Given the description of an element on the screen output the (x, y) to click on. 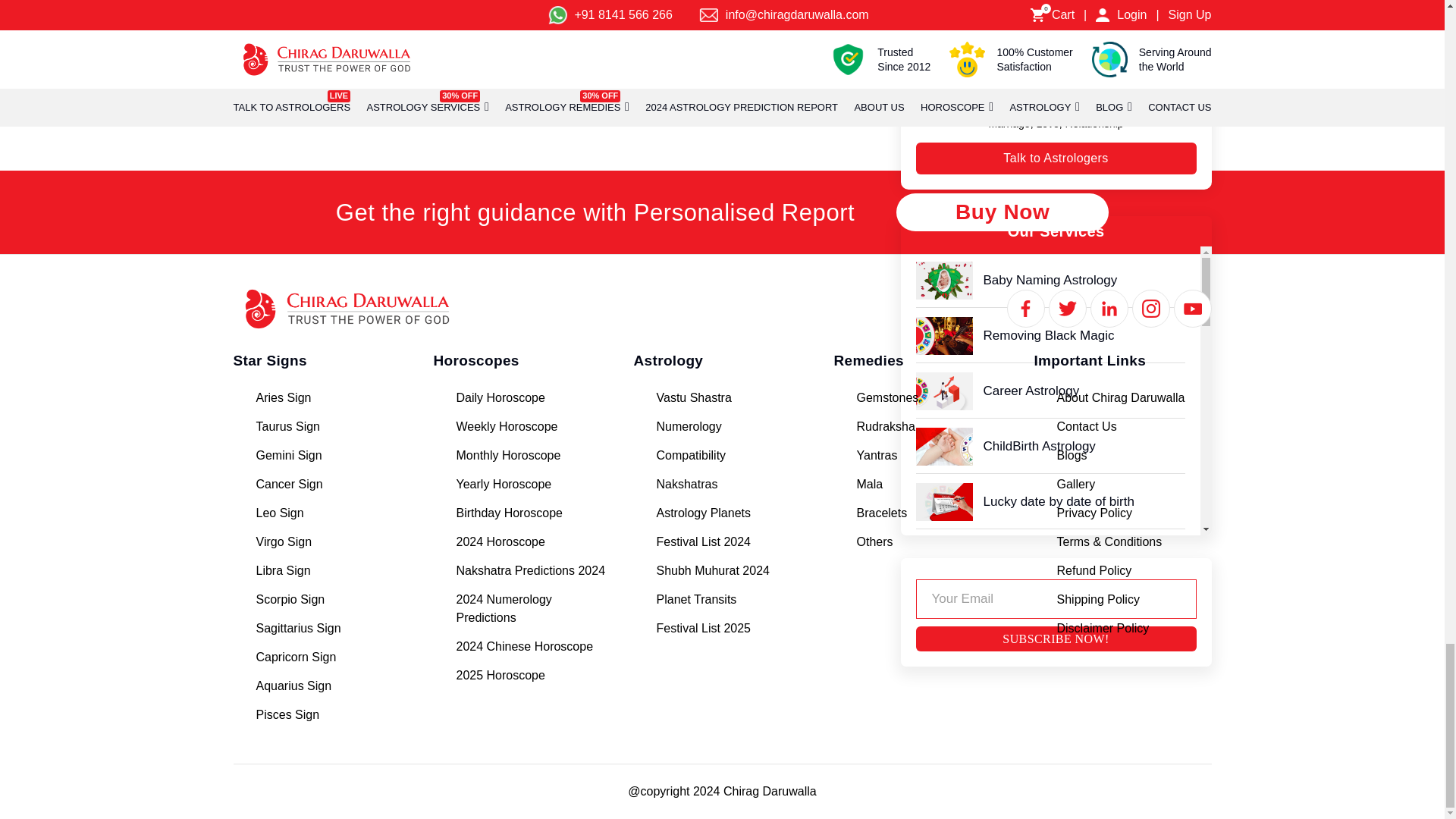
SUBSCRIBE NOW! (1055, 638)
